Given the description of an element on the screen output the (x, y) to click on. 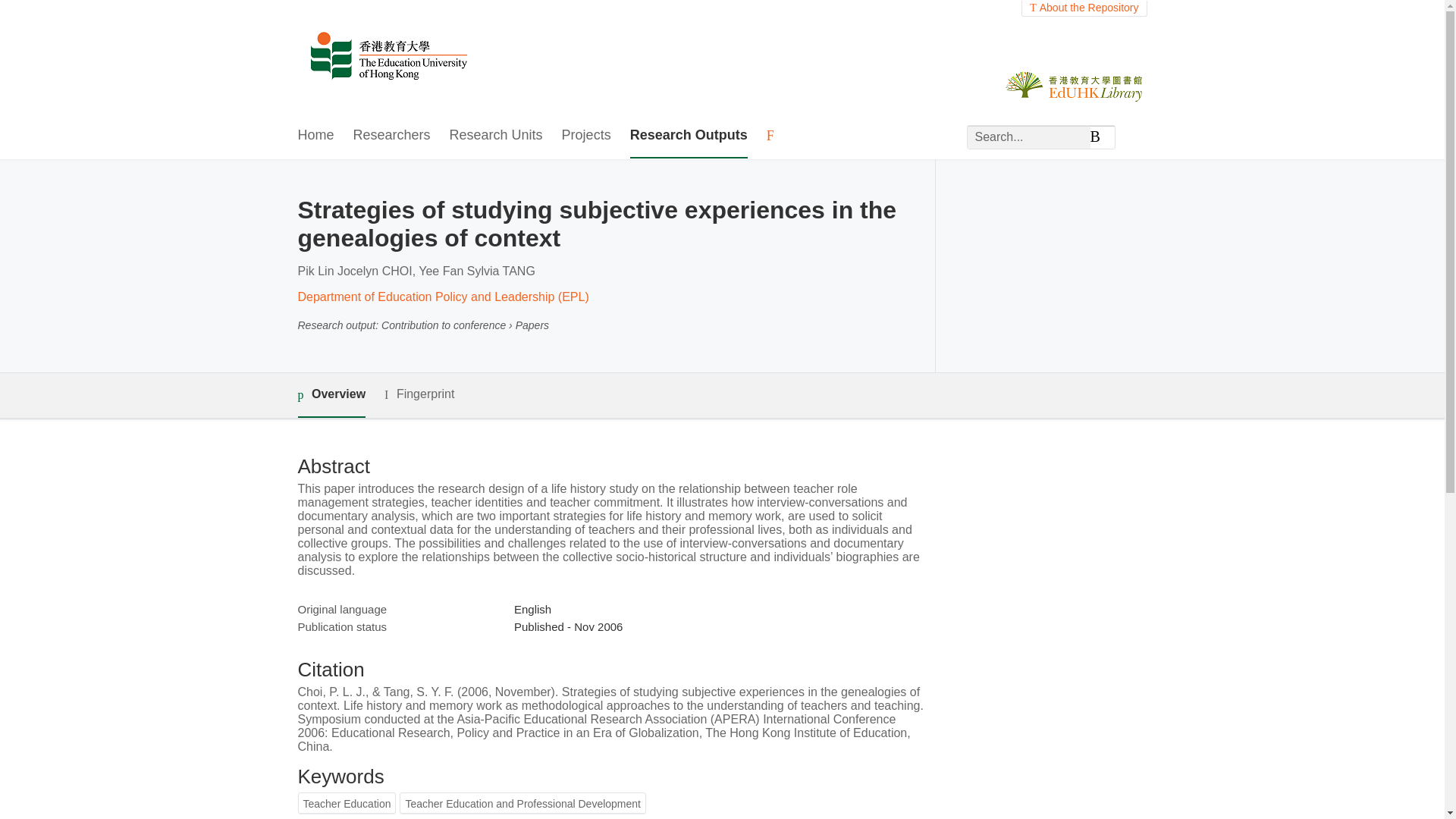
Research Outputs (689, 135)
Overview (331, 395)
Fingerprint (419, 394)
Researchers (391, 135)
About the Repository (1083, 7)
Research Units (496, 135)
Projects (586, 135)
EdUHK Research Repository Home (388, 56)
